Given the description of an element on the screen output the (x, y) to click on. 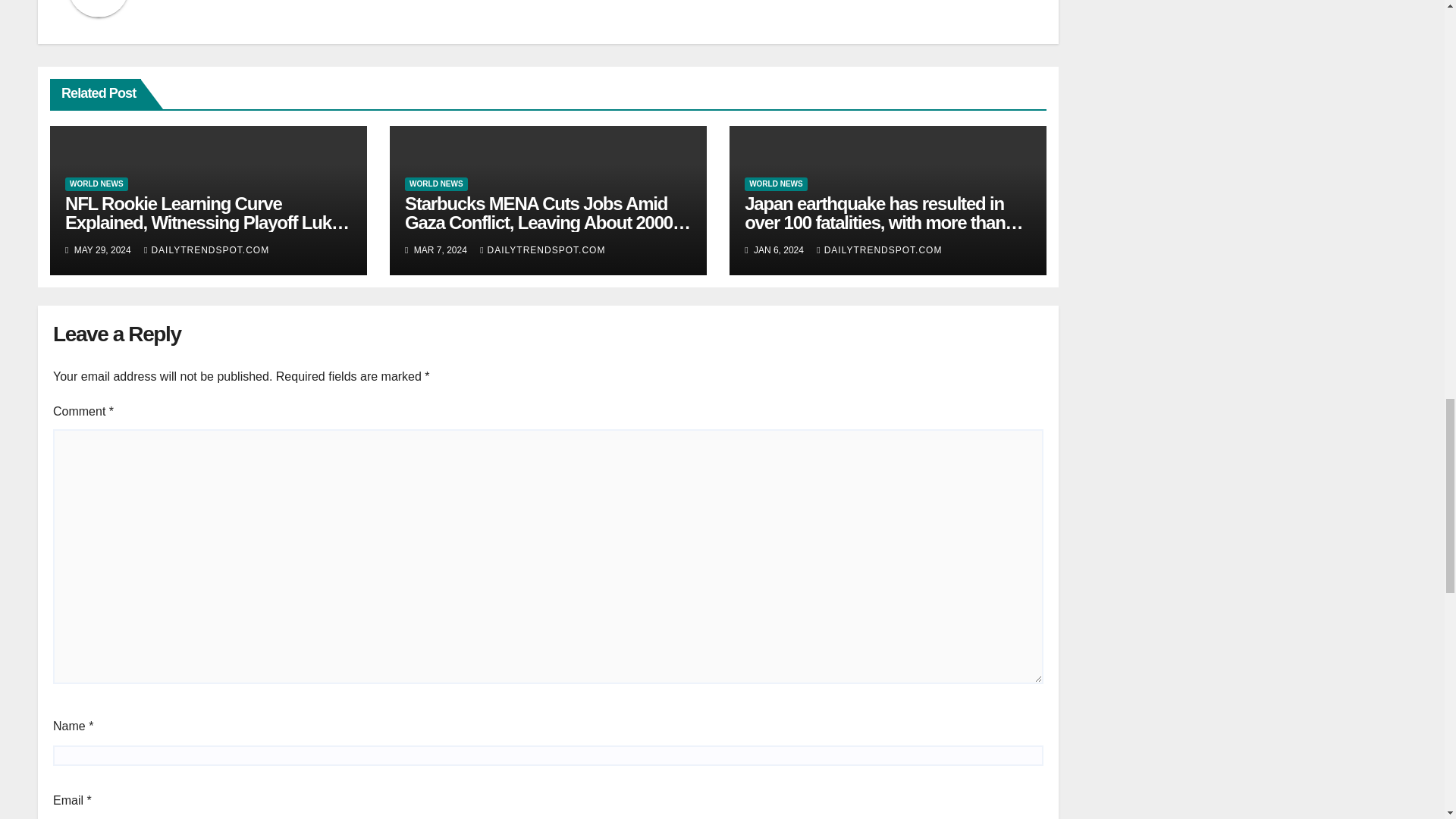
DAILYTRENDSPOT.COM (206, 249)
DAILYTRENDSPOT.COM (542, 249)
WORLD NEWS (435, 183)
WORLD NEWS (776, 183)
WORLD NEWS (96, 183)
